Given the description of an element on the screen output the (x, y) to click on. 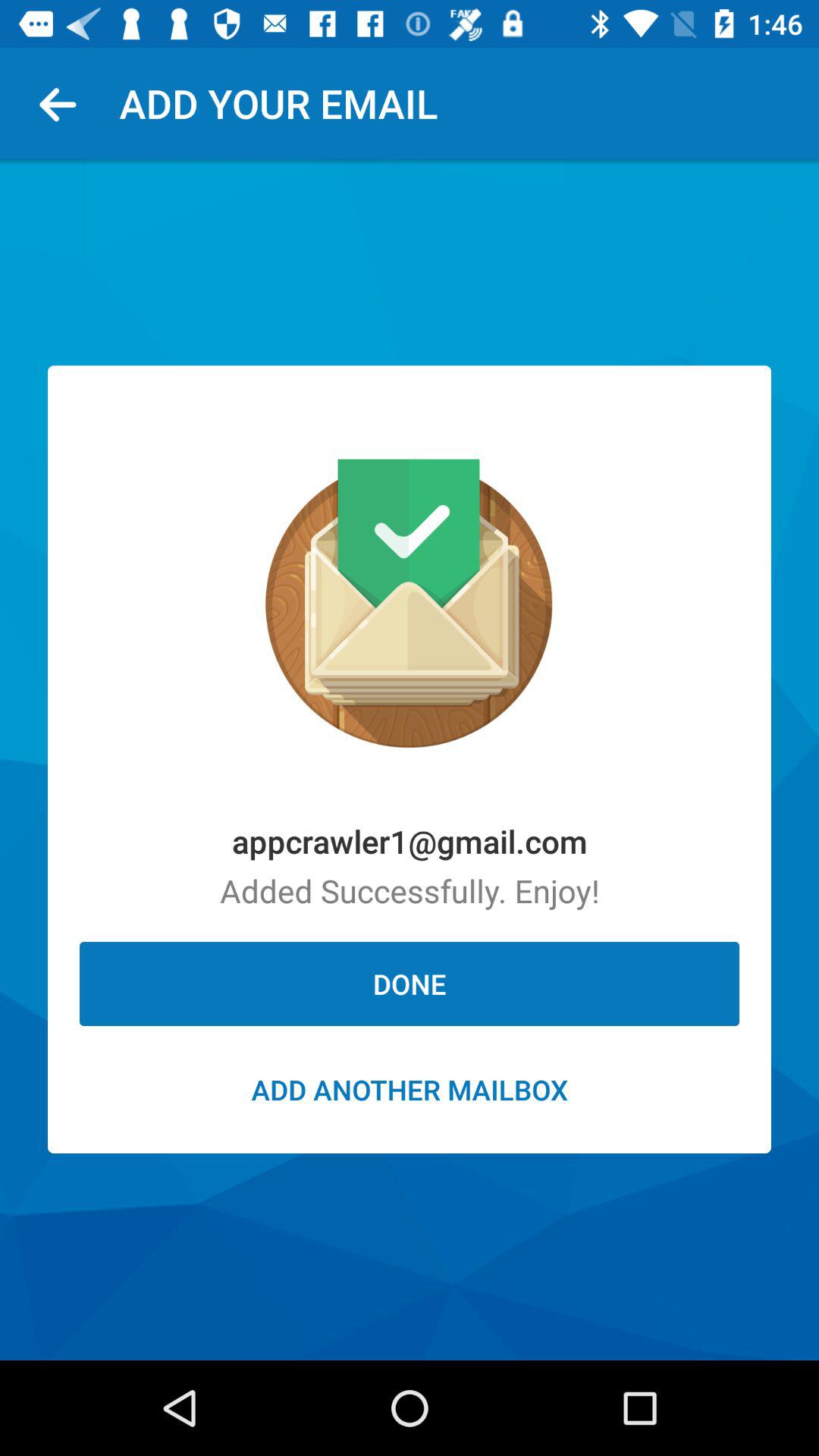
turn off icon above the add another mailbox icon (409, 983)
